Given the description of an element on the screen output the (x, y) to click on. 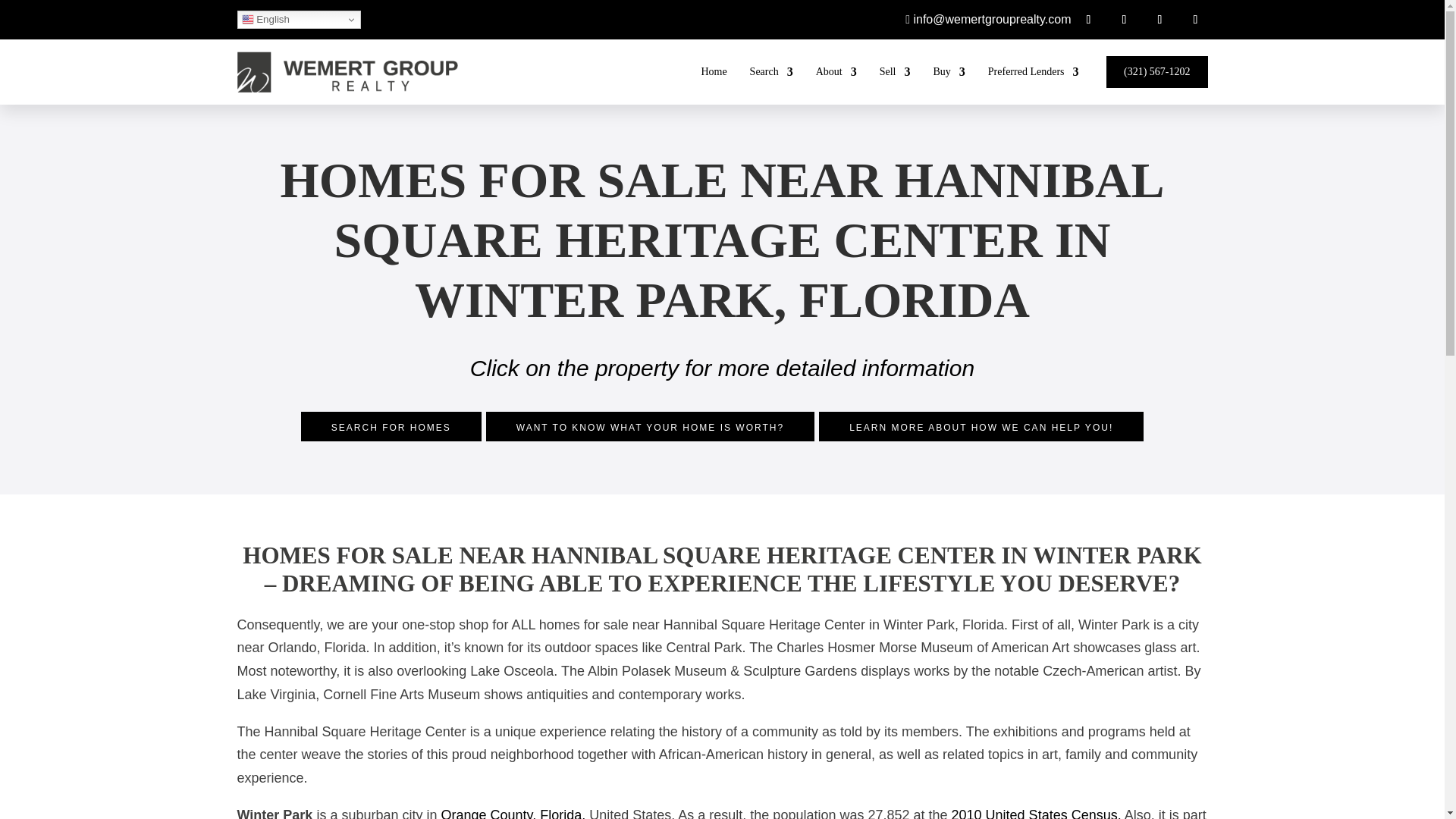
Search (771, 71)
Follow on Facebook (1087, 19)
English (297, 19)
About (836, 71)
Follow on LinkedIn (1159, 19)
Follow on Instagram (1123, 19)
Follow on X (1194, 19)
